Given the description of an element on the screen output the (x, y) to click on. 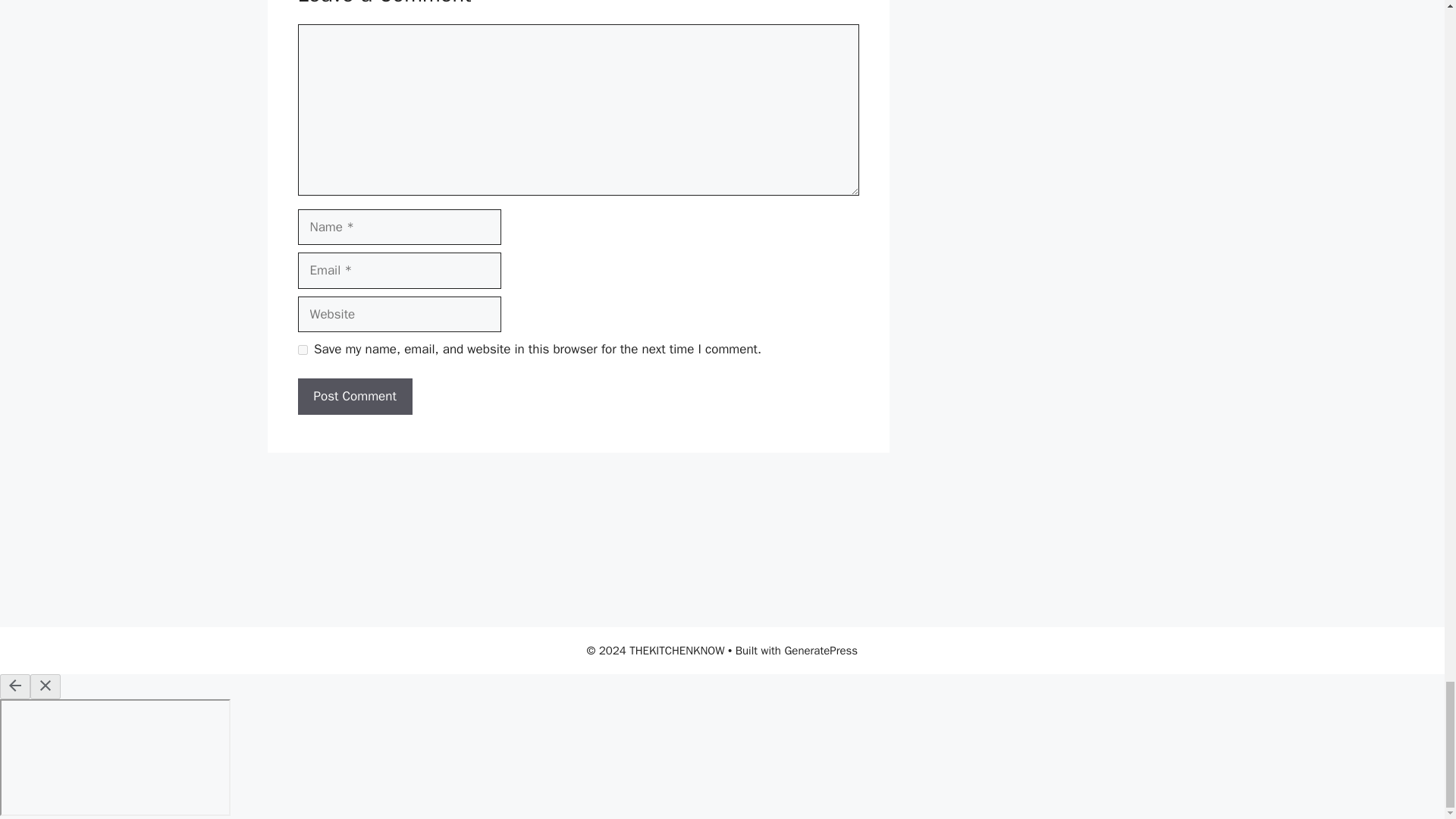
yes (302, 349)
Post Comment (354, 396)
Post Comment (354, 396)
